Given the description of an element on the screen output the (x, y) to click on. 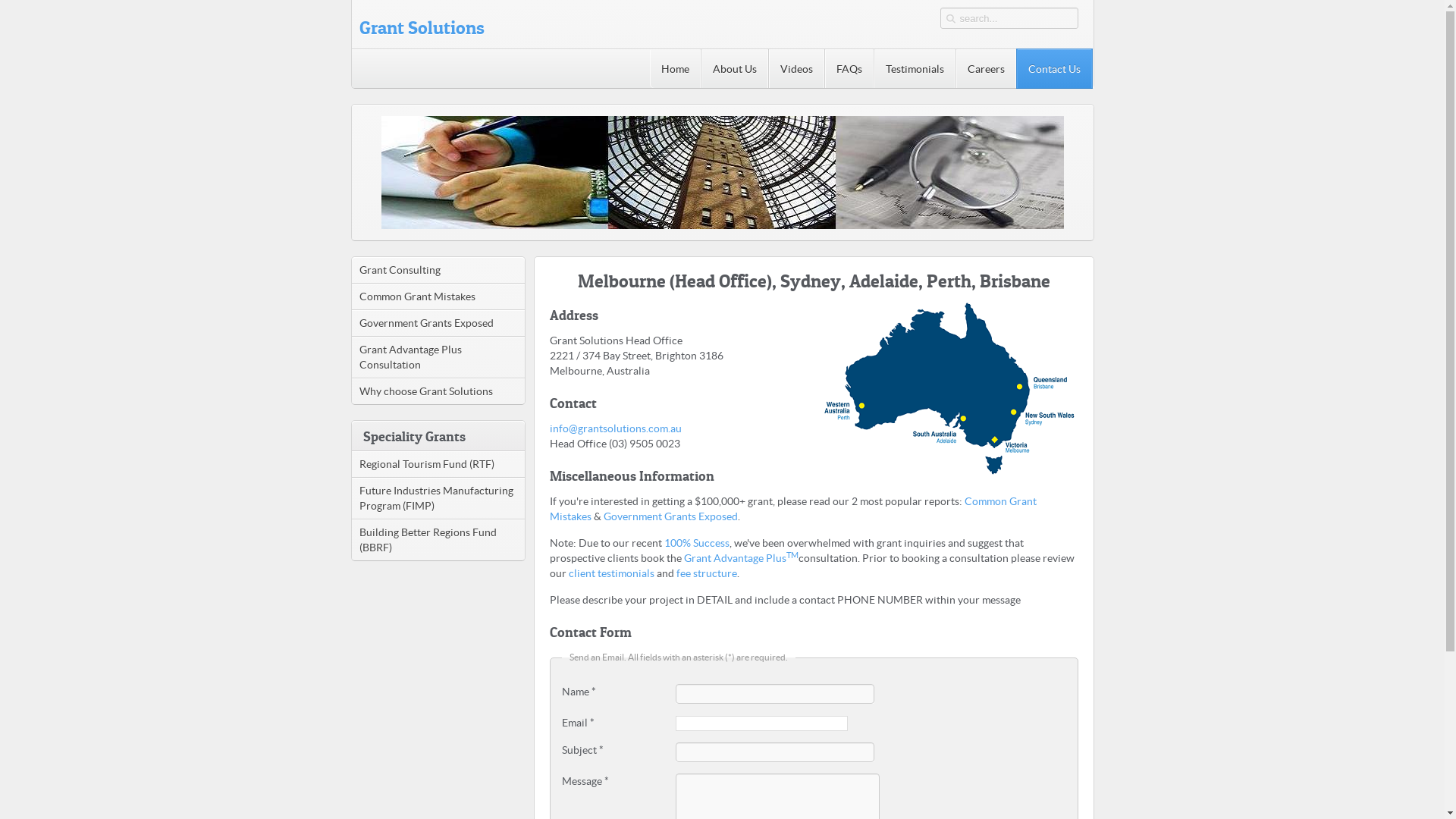
FAQs Element type: text (849, 68)
Building Better Regions Fund (BBRF) Element type: text (437, 539)
fee structure Element type: text (706, 573)
Common Grant Mistakes Element type: text (437, 295)
Common Grant Mistakes Element type: text (792, 508)
Grant Consulting Element type: text (437, 269)
100% Success Element type: text (696, 542)
Regional Tourism Fund (RTF) Element type: text (437, 463)
Future Industries Manufacturing Program (FIMP) Element type: text (437, 497)
client testimonials Element type: text (611, 573)
Government Grants Exposed Element type: text (670, 516)
Testimonials Element type: text (914, 68)
Grant Advantage Plus Consultation Element type: text (437, 356)
Contact Us Element type: text (1054, 68)
info@grantsolutions.com.au Element type: text (614, 428)
Videos Element type: text (796, 68)
Why choose Grant Solutions Element type: text (437, 390)
Reset Element type: text (3, 3)
About Us Element type: text (734, 68)
Careers Element type: text (985, 68)
Home Element type: text (674, 68)
Grant Advantage PlusTM Element type: text (738, 558)
Grant Solutions Element type: text (417, 24)
Government Grants Exposed Element type: text (437, 322)
